Given the description of an element on the screen output the (x, y) to click on. 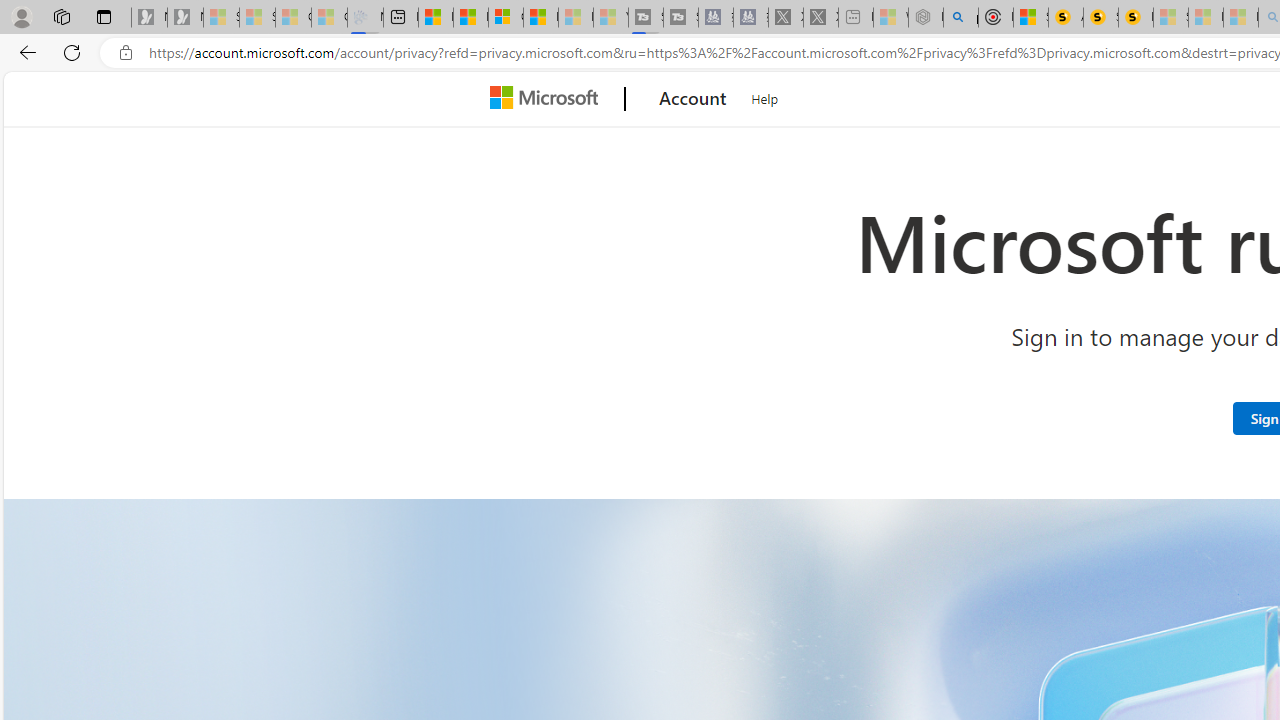
Streaming Coverage | T3 - Sleeping (645, 17)
Newsletter Sign Up - Sleeping (185, 17)
Help (765, 96)
Wildlife - MSN - Sleeping (890, 17)
New tab - Sleeping (855, 17)
Help (765, 96)
Microsoft Start - Sleeping (575, 17)
